Given the description of an element on the screen output the (x, y) to click on. 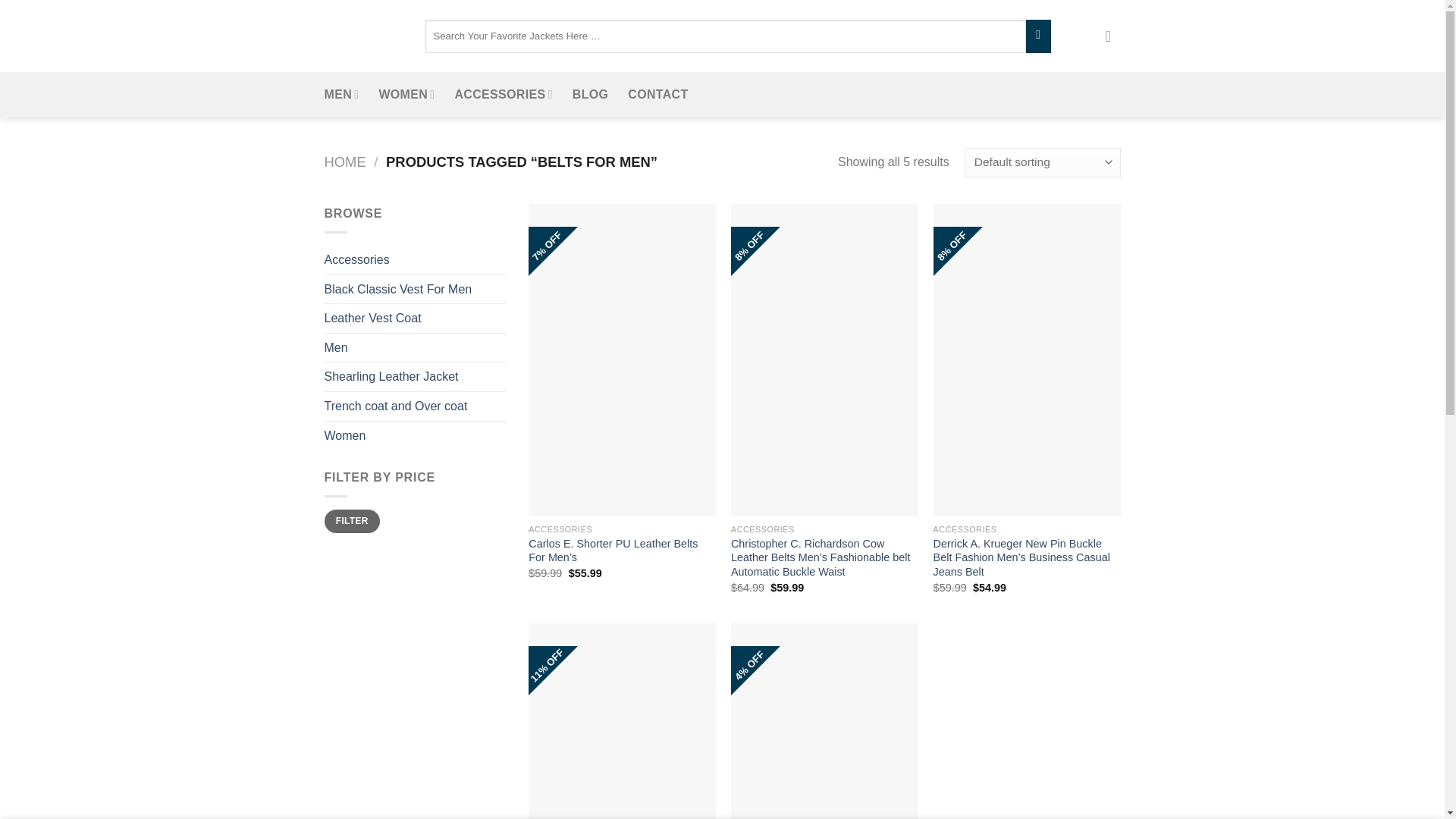
ACCESSORIES (502, 94)
Leather Vest Coat (415, 317)
Shearling Leather Jacket (415, 376)
MEN (341, 94)
HOME (345, 161)
WOMEN (405, 94)
Men (415, 347)
Search (1038, 36)
CONTACT (657, 94)
Cart (1113, 36)
Trench coat and Over coat (415, 406)
Accessories (415, 259)
BLOG (590, 94)
Black Classic Vest For Men (415, 289)
Women (415, 435)
